Given the description of an element on the screen output the (x, y) to click on. 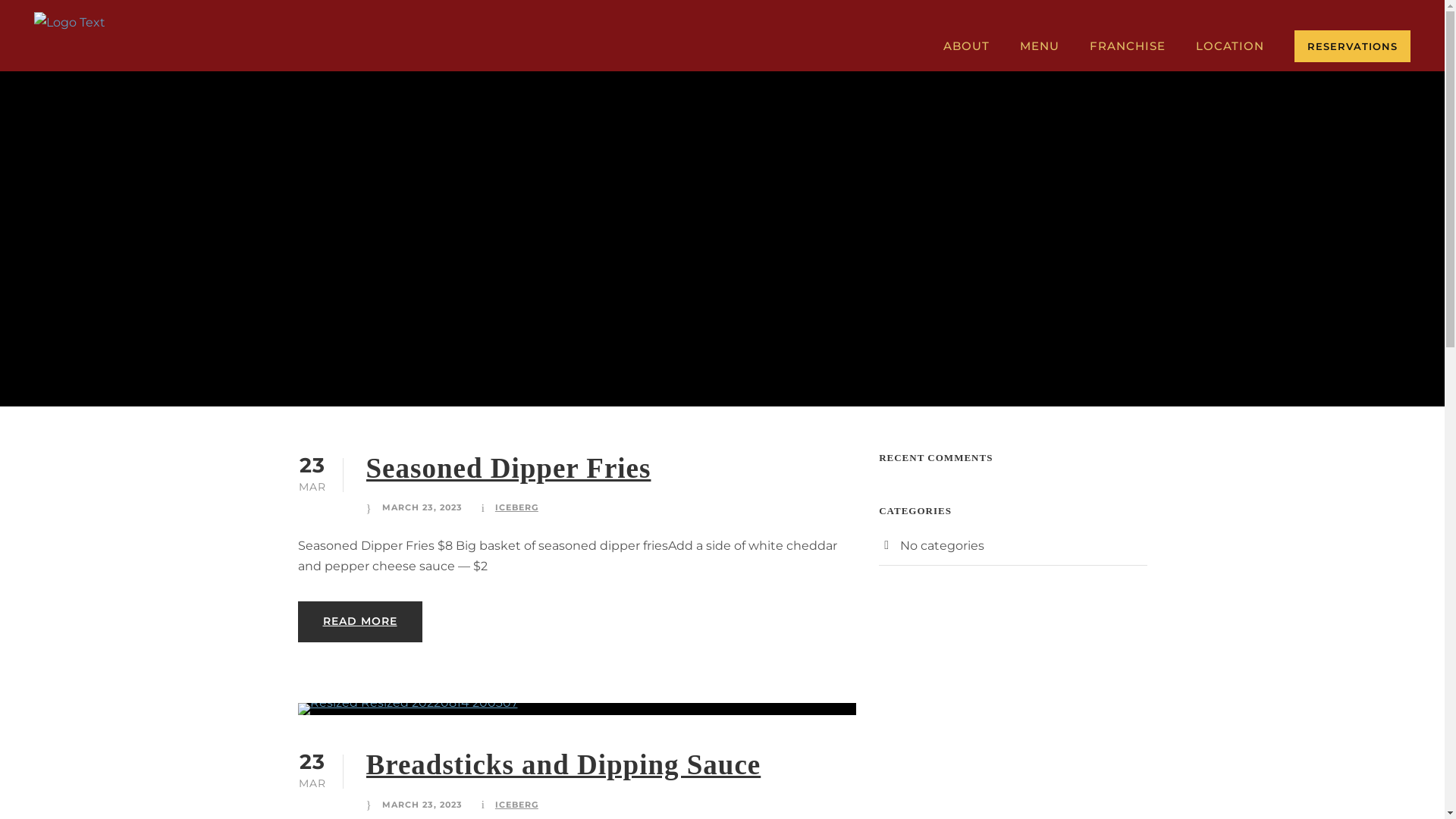
Resized Resized 20220814 200307 Element type: hover (407, 708)
FRANCHISE Element type: text (1127, 53)
LOCATION Element type: text (1229, 53)
RESERVATIONS Element type: text (1352, 46)
READ MORE Element type: text (359, 621)
Seasoned Dipper Fries Element type: text (507, 467)
ABOUT Element type: text (966, 53)
ICEBERG Element type: text (516, 804)
Breadsticks and Dipping Sauce Element type: text (562, 764)
MENU Element type: text (1039, 53)
Logo Text Element type: hover (69, 22)
ICEBERG Element type: text (516, 507)
